Given the description of an element on the screen output the (x, y) to click on. 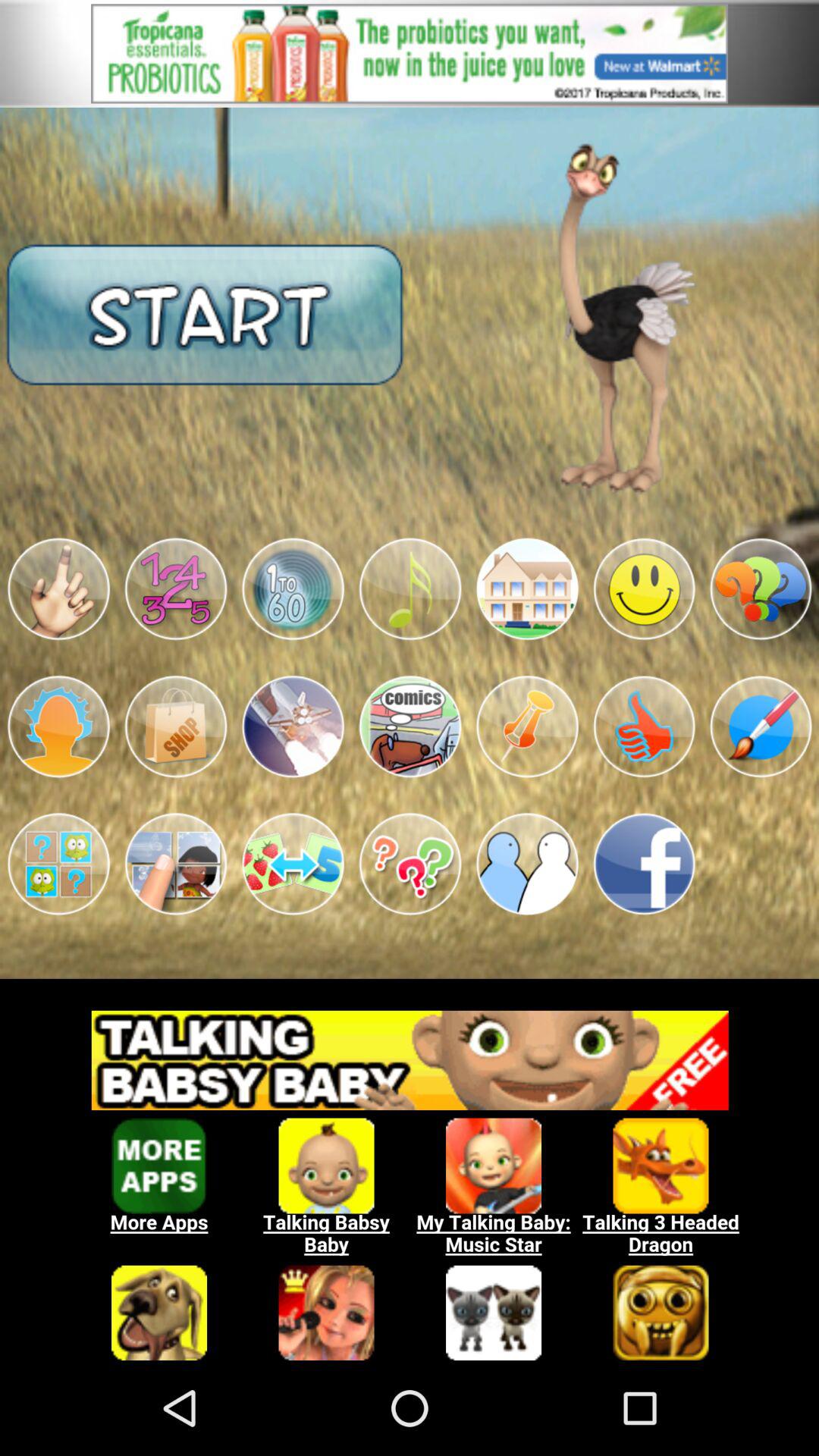
open image (526, 726)
